Given the description of an element on the screen output the (x, y) to click on. 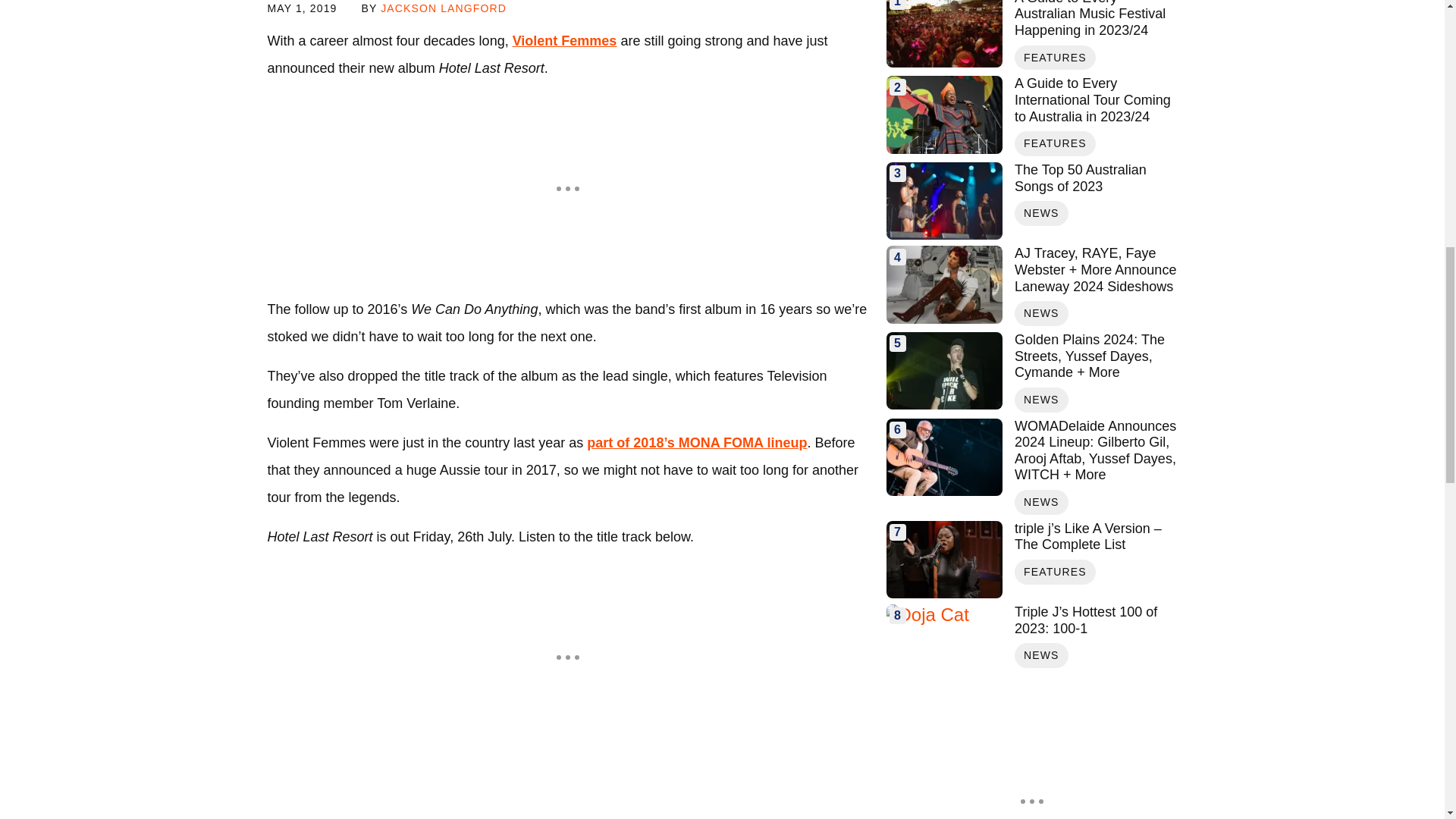
The Top 50 Australian Songs of 2023 (944, 200)
Violent Femmes (564, 40)
JACKSON LANGFORD (443, 8)
1 (944, 33)
The Top 50 Australian Songs of 2023 (1095, 178)
